Given the description of an element on the screen output the (x, y) to click on. 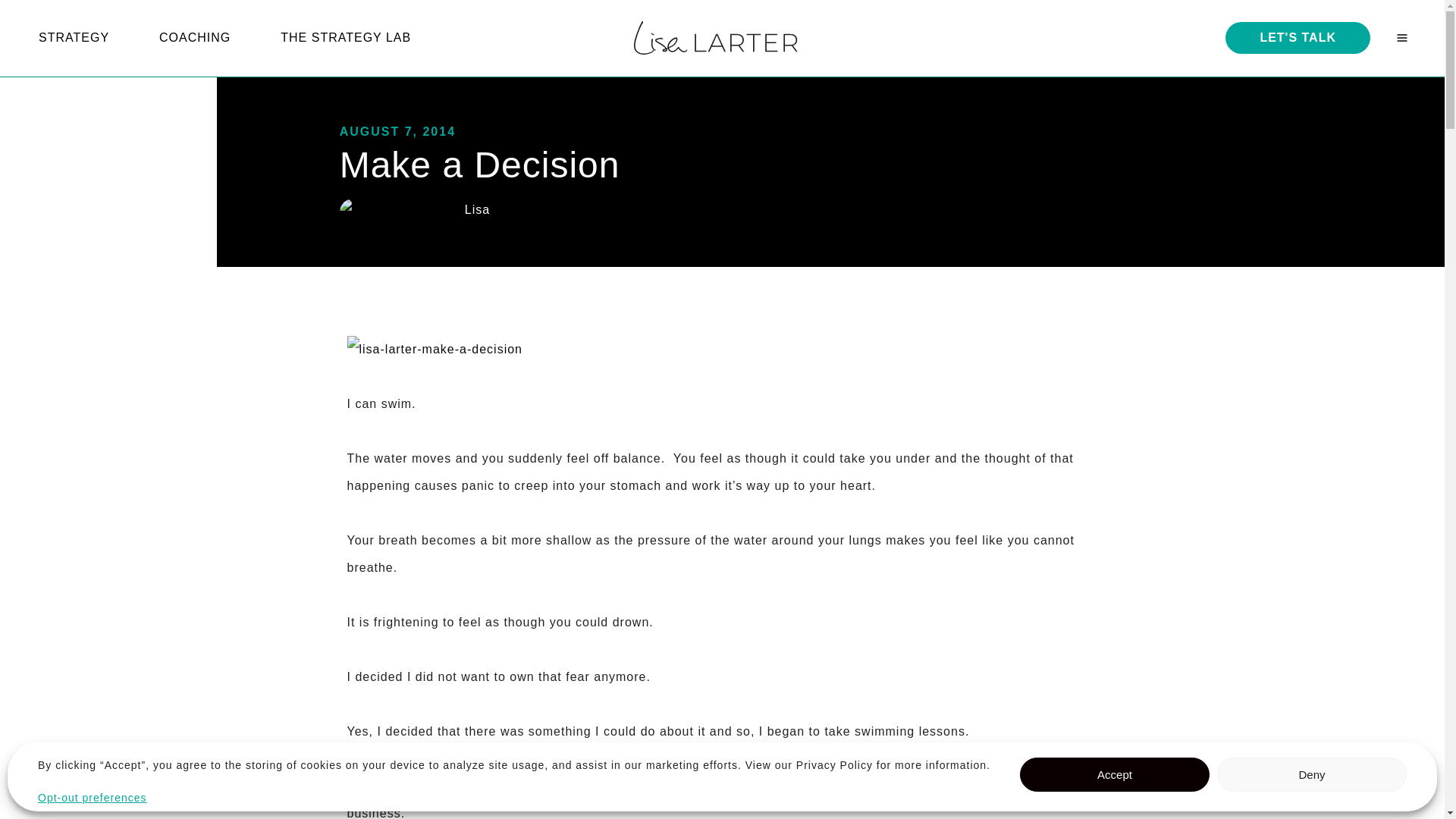
LET'S TALK (1297, 38)
Deny (1311, 774)
Opt-out preferences (92, 797)
COACHING (207, 37)
THE STRATEGY LAB (357, 37)
STRATEGY (86, 37)
AUGUST 7, 2014 (397, 131)
Accept (1114, 774)
